Given the description of an element on the screen output the (x, y) to click on. 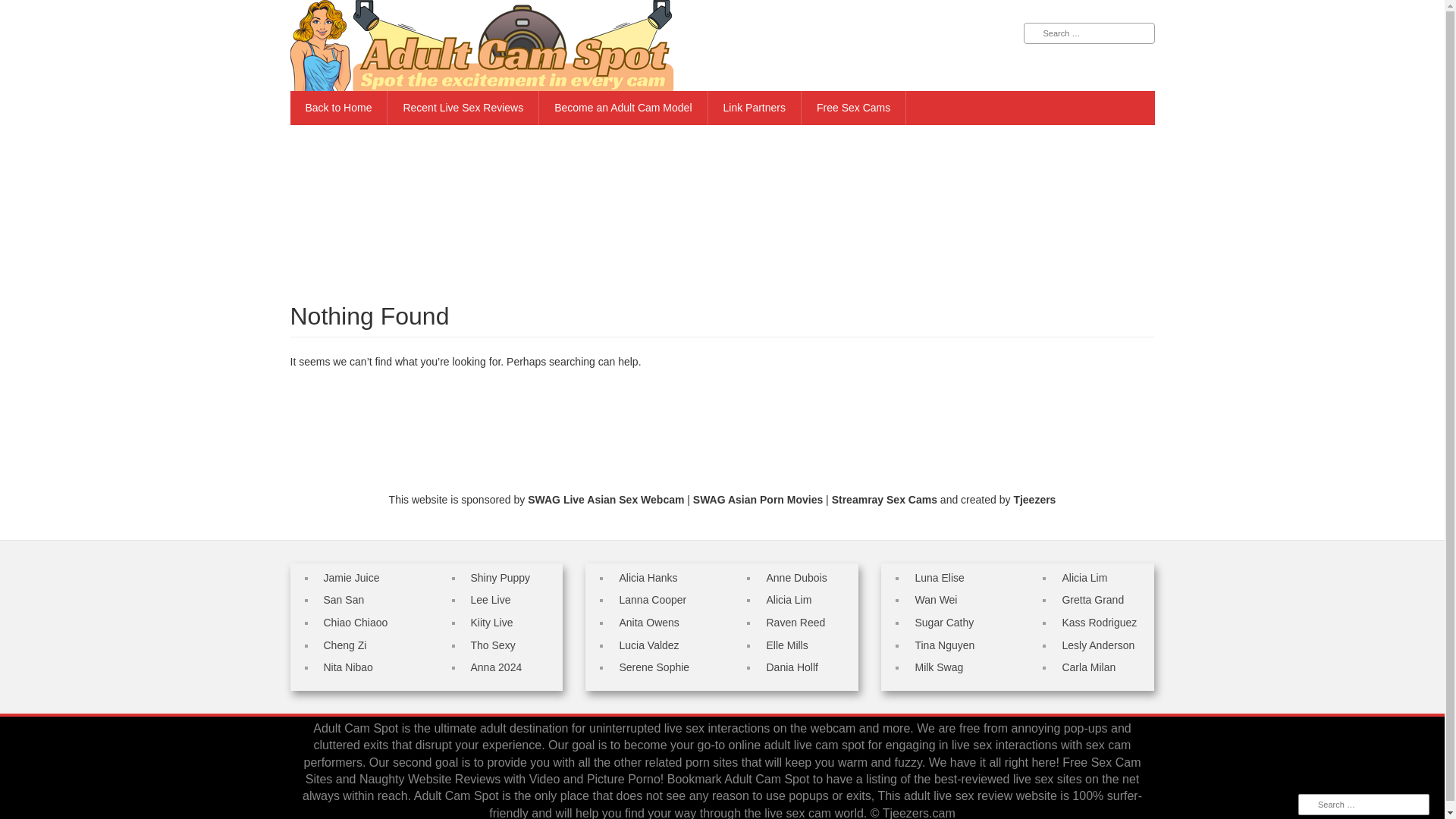
Recent Live Sex Reviews (462, 107)
Lee Live (490, 599)
Jamie Juice (350, 577)
Lucia Valdez (648, 645)
Back to Home (338, 107)
SWAG Live Asian Sex Webcam (605, 499)
Anna 2024 (495, 666)
Free Sex Cams (853, 107)
Serene Sophie (653, 666)
Tjeezers (1034, 499)
Become an Adult Cam Model (622, 107)
Link Partners (754, 107)
Tho Sexy (492, 645)
Cheng Zi (344, 645)
Streamray Sex Cams (884, 499)
